Given the description of an element on the screen output the (x, y) to click on. 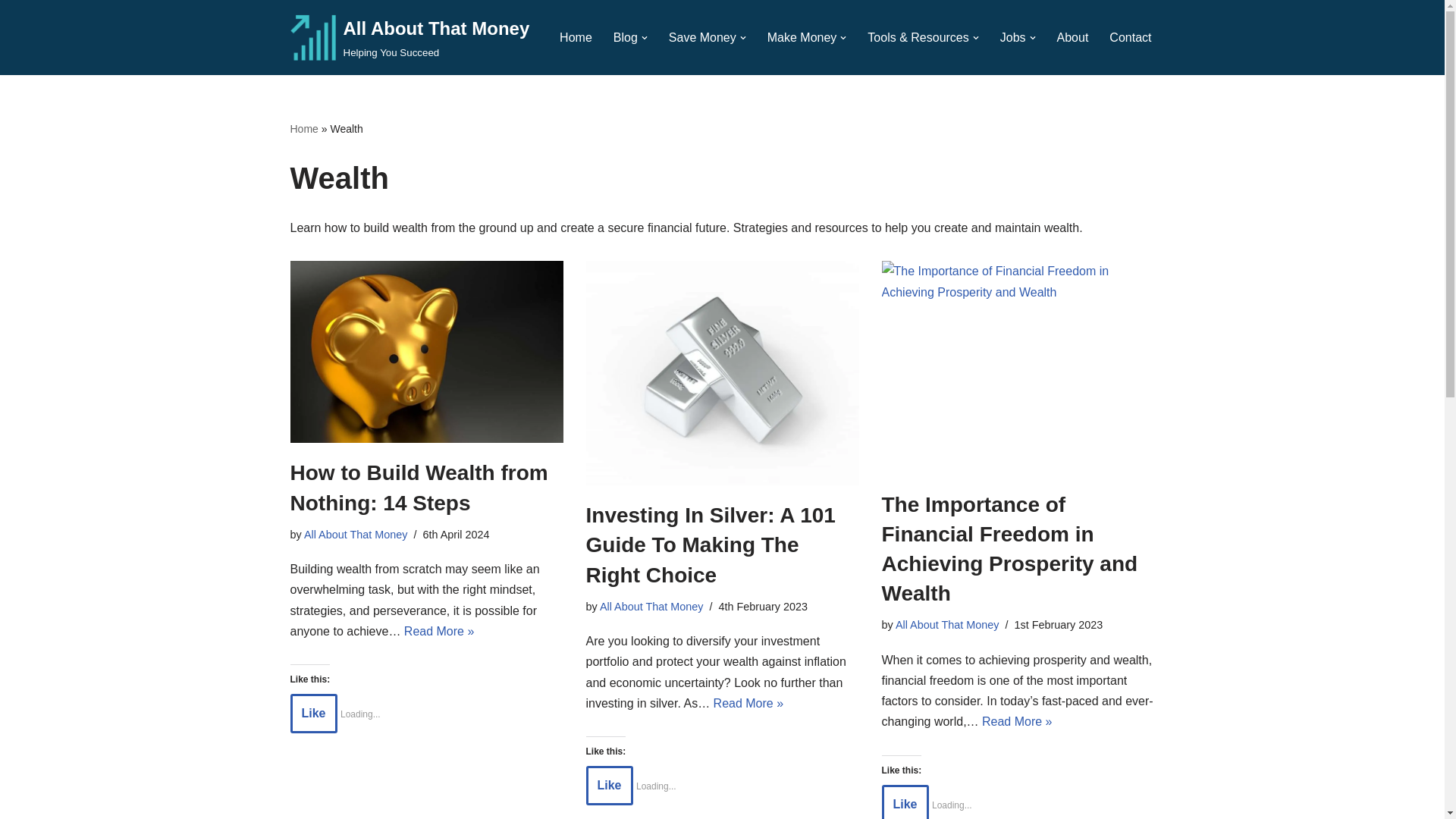
Posts by All About That Money (355, 534)
How to Build Wealth from Nothing: 14 Steps (425, 352)
Posts by All About That Money (946, 624)
Home (575, 37)
Posts by All About That Money (409, 37)
Make Money (651, 606)
Investing In Silver: A 101 Guide To Making The Right Choice (802, 37)
Skip to content (722, 373)
